Given the description of an element on the screen output the (x, y) to click on. 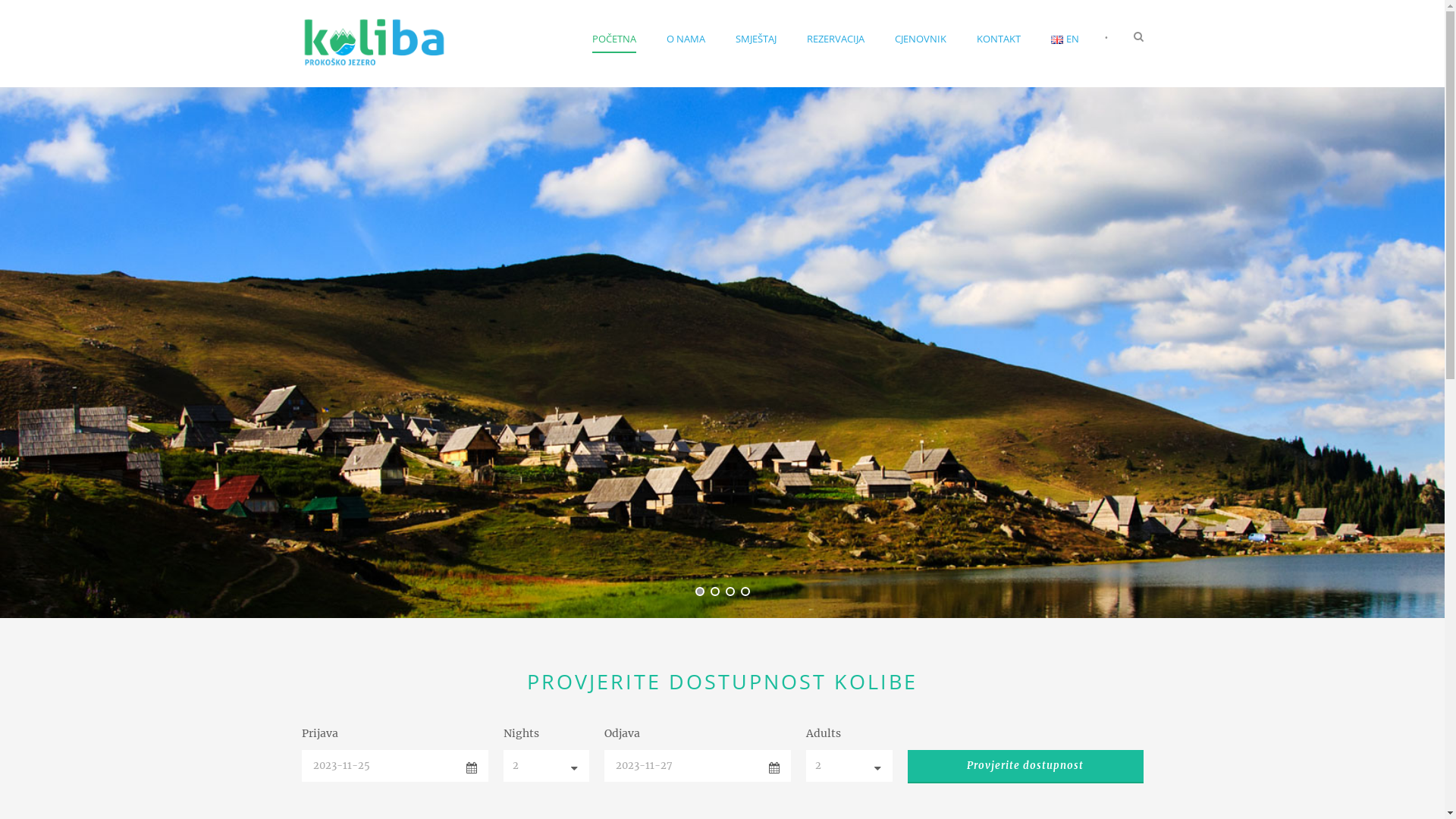
KONTAKT Element type: text (998, 55)
EN Element type: text (1064, 55)
O NAMA Element type: text (685, 55)
EN Element type: hover (1057, 39)
Provjerite dostupnost Element type: text (1025, 766)
CJENOVNIK Element type: text (920, 55)
REZERVACIJA Element type: text (835, 55)
